Given the description of an element on the screen output the (x, y) to click on. 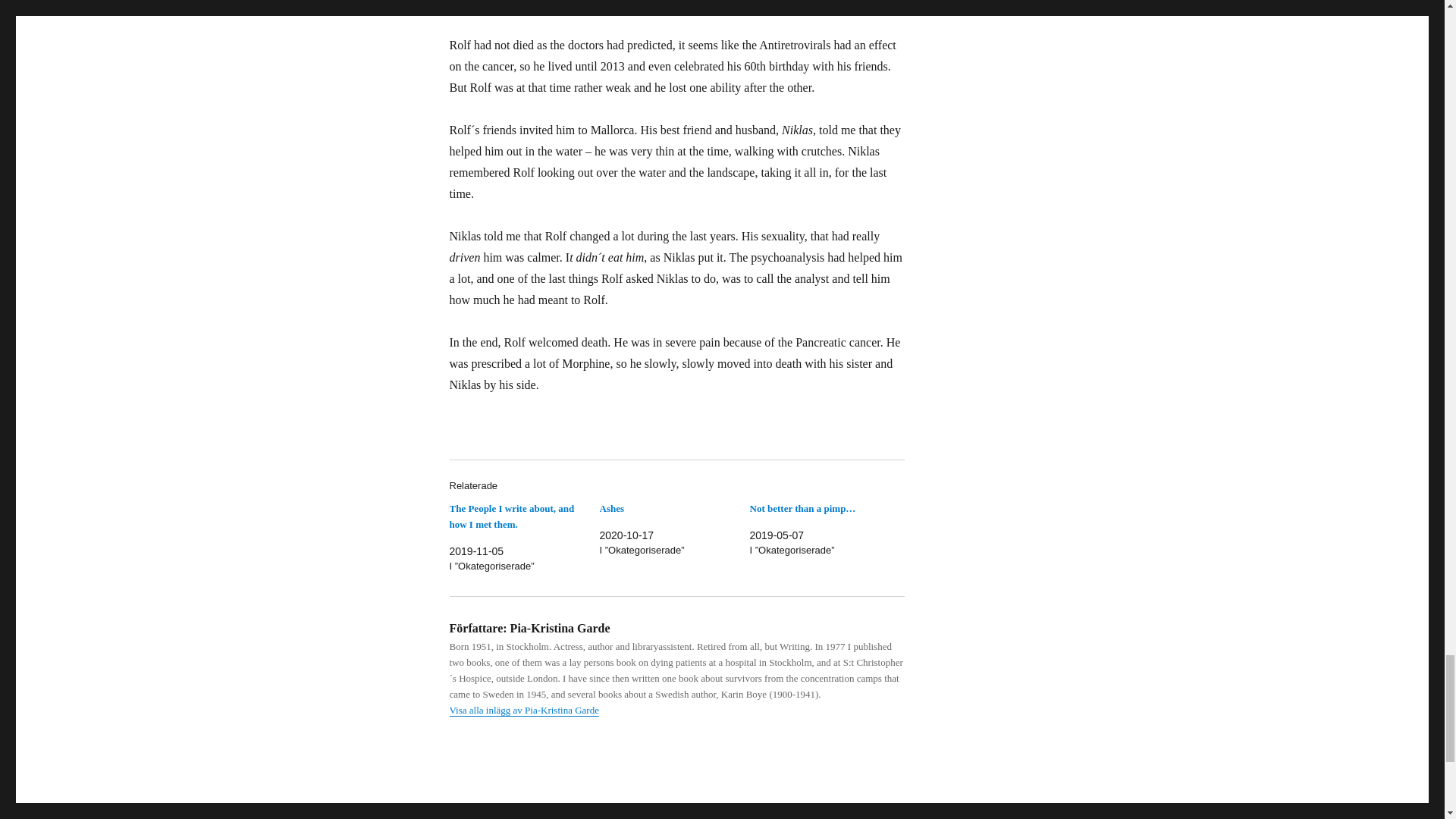
Ashes (611, 508)
The People I write about, and how I met them. (510, 515)
Ashes (611, 508)
The People I write about, and how I met them. (510, 515)
